Given the description of an element on the screen output the (x, y) to click on. 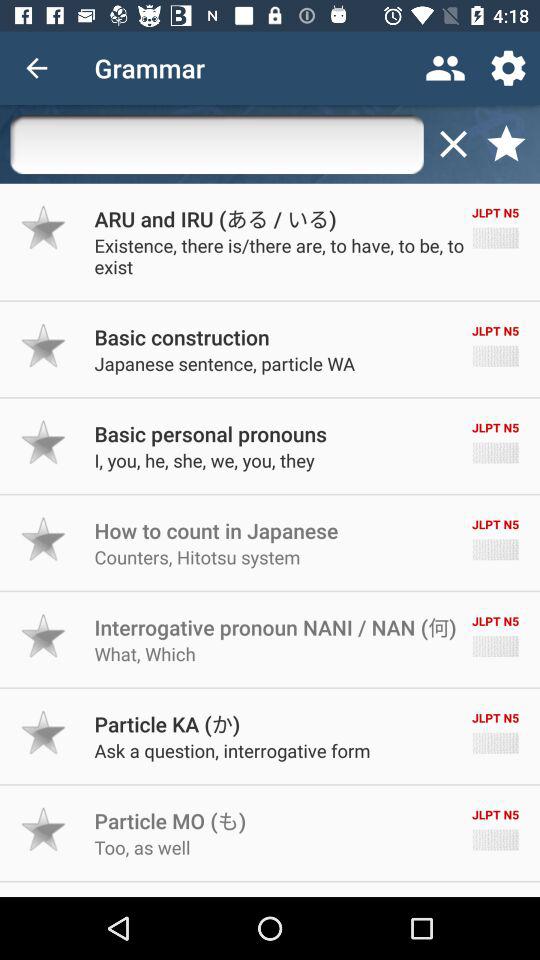
add to favorites (44, 345)
